Given the description of an element on the screen output the (x, y) to click on. 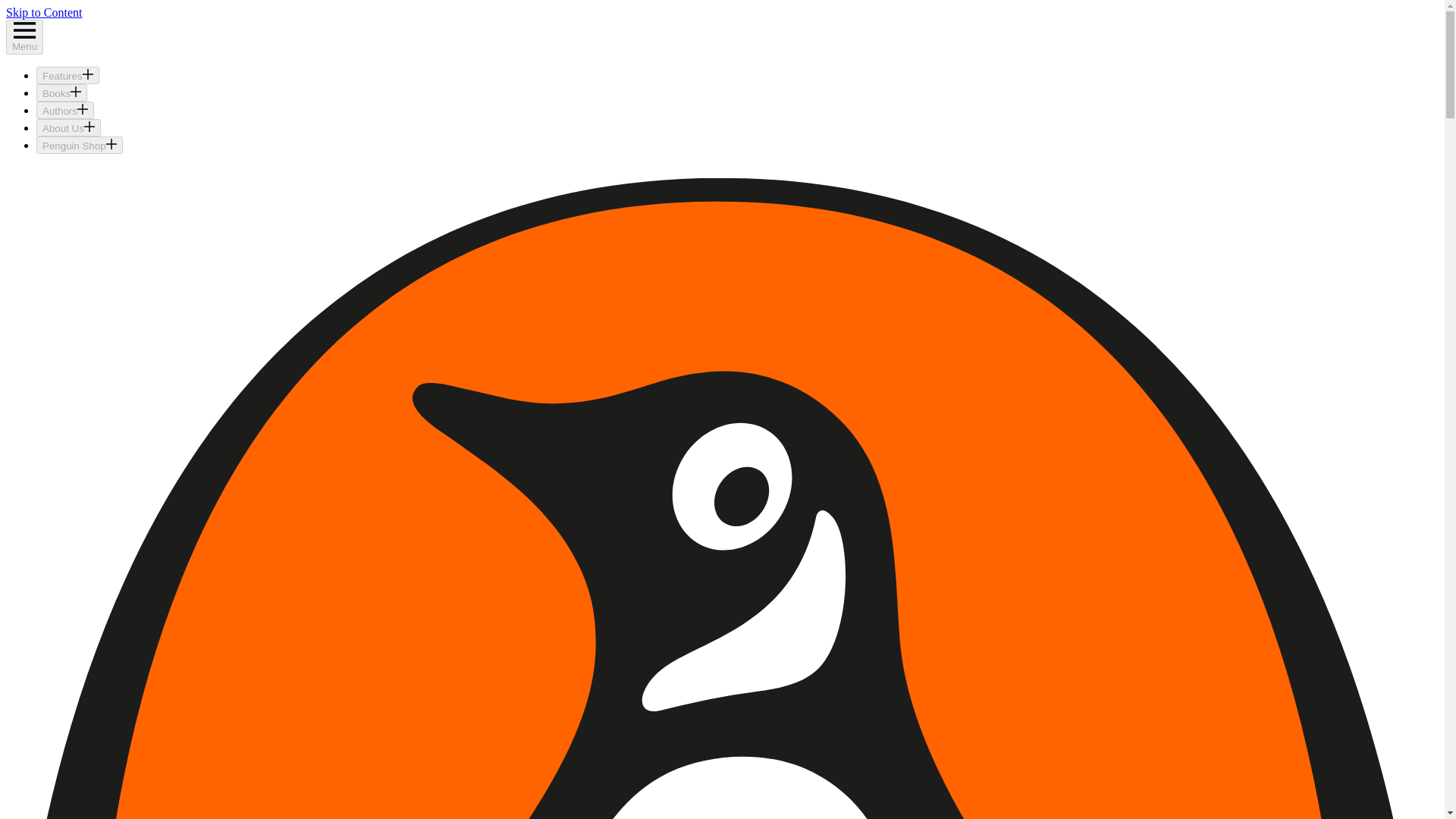
Menu (24, 36)
Penguin Shop (79, 144)
Books (61, 92)
Authors (65, 109)
About Us (68, 127)
Skip to Content (43, 11)
Features (67, 75)
